Given the description of an element on the screen output the (x, y) to click on. 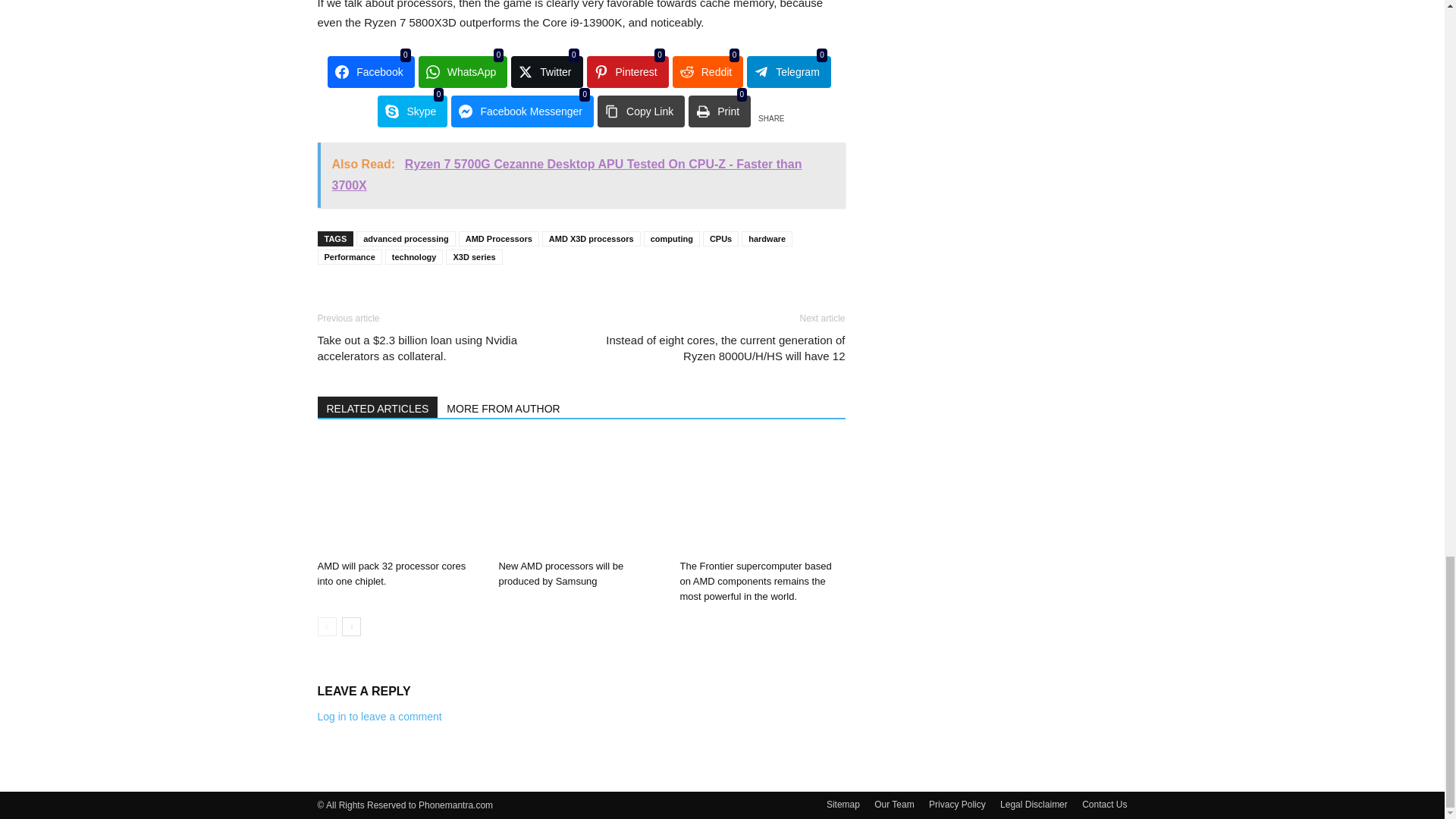
Share on WhatsApp (463, 71)
Share on Reddit (707, 71)
Skype (411, 111)
AMD will pack 32 processor cores into one chiplet. (399, 496)
bottomFacebookLike (430, 298)
Facebook (370, 71)
Reddit (707, 71)
Share on Skype (411, 111)
Share on Telegram (788, 71)
Share on Pinterest (627, 71)
Facebook Messenger (522, 111)
Twitter (546, 71)
Share on Print (719, 111)
Share on Facebook Messenger (522, 111)
Pinterest (627, 71)
